Given the description of an element on the screen output the (x, y) to click on. 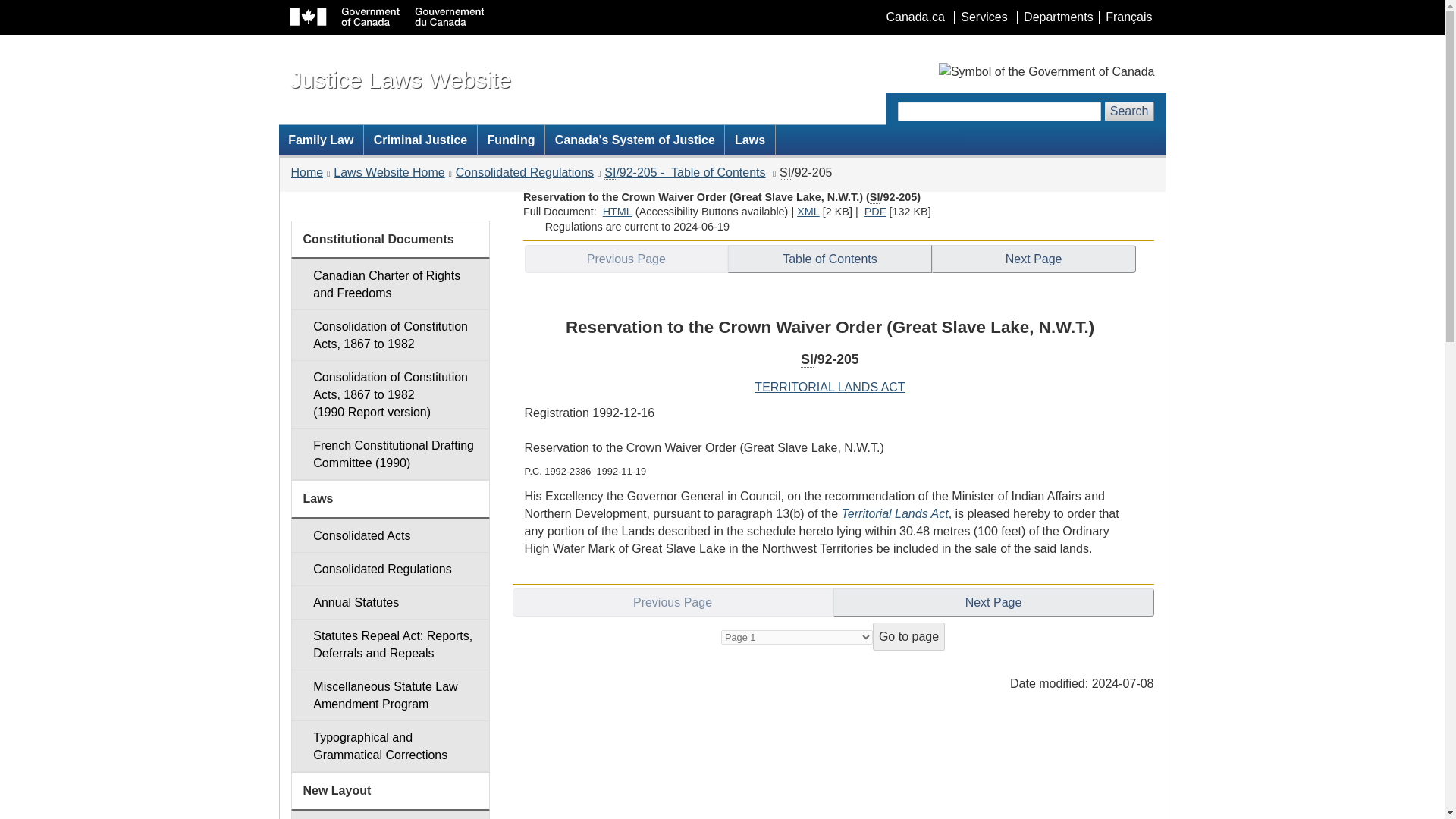
Justice Laws Website (400, 79)
Consolidated Regulations (524, 172)
Previous Page (626, 258)
Services (983, 16)
Territorial Lands Act (895, 513)
Consolidated Regulations (390, 569)
Next Page (1033, 258)
Search (1129, 111)
Annual Statutes (390, 602)
Skip to main content (725, 11)
